Given the description of an element on the screen output the (x, y) to click on. 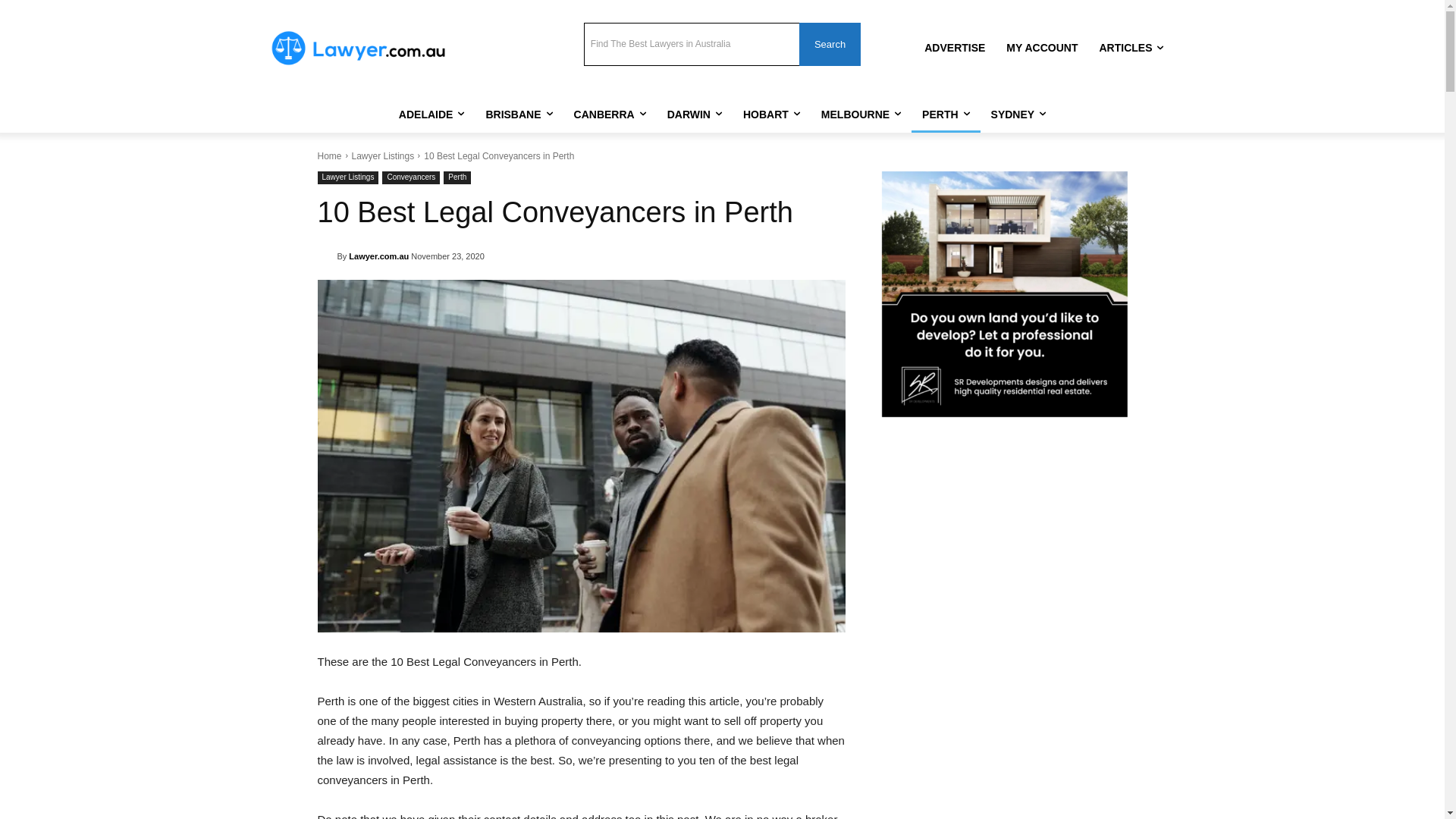
SYDNEY Element type: text (1018, 114)
Lawyer Listings Element type: text (382, 155)
DARWIN Element type: text (694, 114)
Lawyer.com.au Element type: text (378, 255)
Lawyer.com.au Element type: hover (326, 255)
ADVERTISE Element type: text (954, 47)
MY ACCOUNT Element type: text (1041, 47)
ADELAIDE Element type: text (431, 114)
Twitter Element type: hover (496, 28)
HOBART Element type: text (771, 114)
Lawyer.com.au Logo Element type: hover (357, 47)
ARTICLES Element type: text (1130, 47)
Home Element type: text (328, 155)
Vimeo Element type: hover (517, 28)
MELBOURNE Element type: text (860, 114)
Lawyer Listings Element type: text (347, 177)
Youtube Element type: hover (538, 28)
Search Element type: text (829, 43)
Conveyancers Element type: text (410, 177)
CANBERRA Element type: text (609, 114)
10 Best Legal Conveyancers in Perth Element type: hover (580, 455)
BRISBANE Element type: text (518, 114)
PERTH Element type: text (945, 114)
Facebook Element type: hover (454, 28)
Perth Element type: text (456, 177)
Instagram Element type: hover (475, 28)
